Given the description of an element on the screen output the (x, y) to click on. 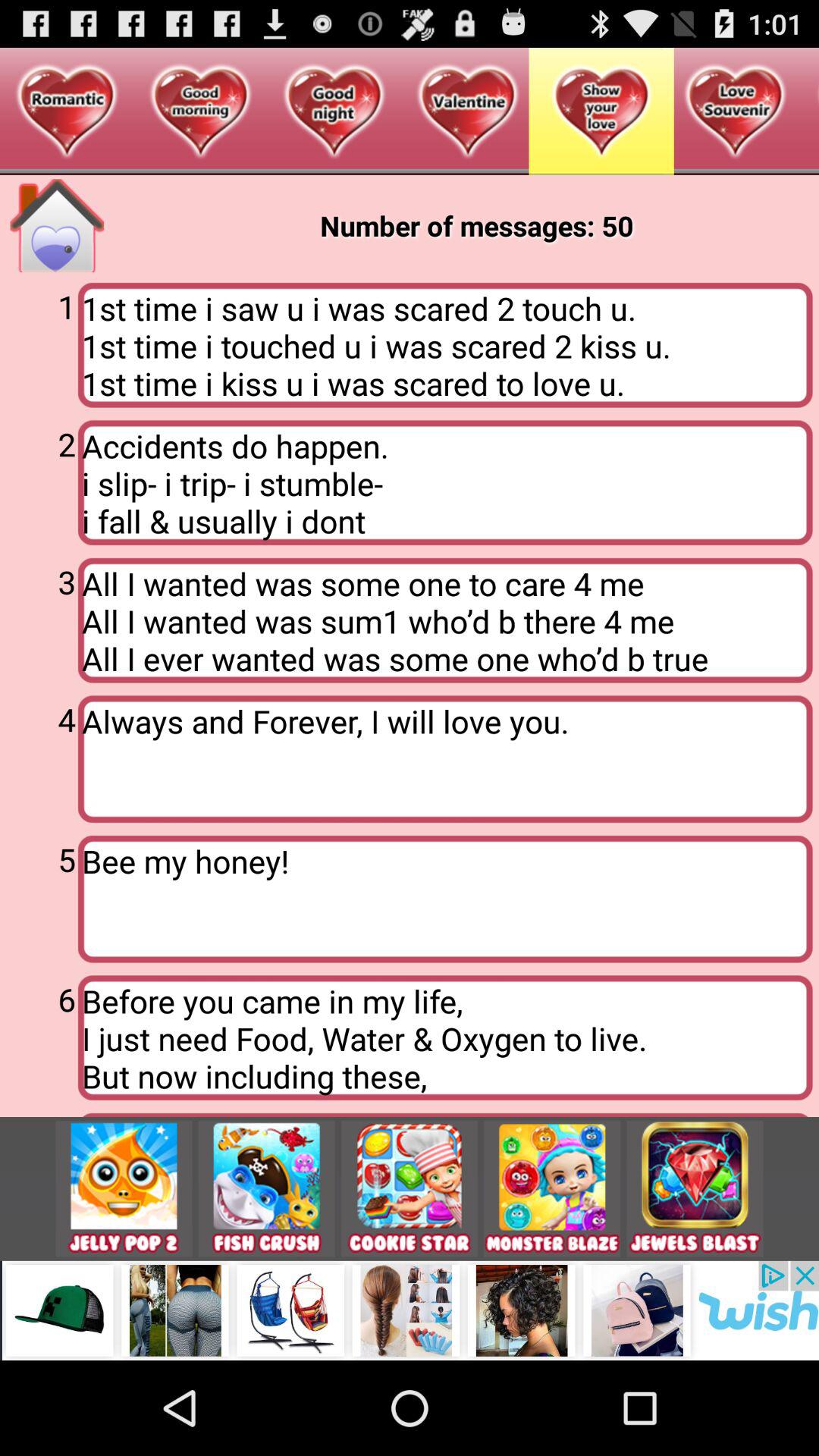
select jewels blast (694, 1188)
